Given the description of an element on the screen output the (x, y) to click on. 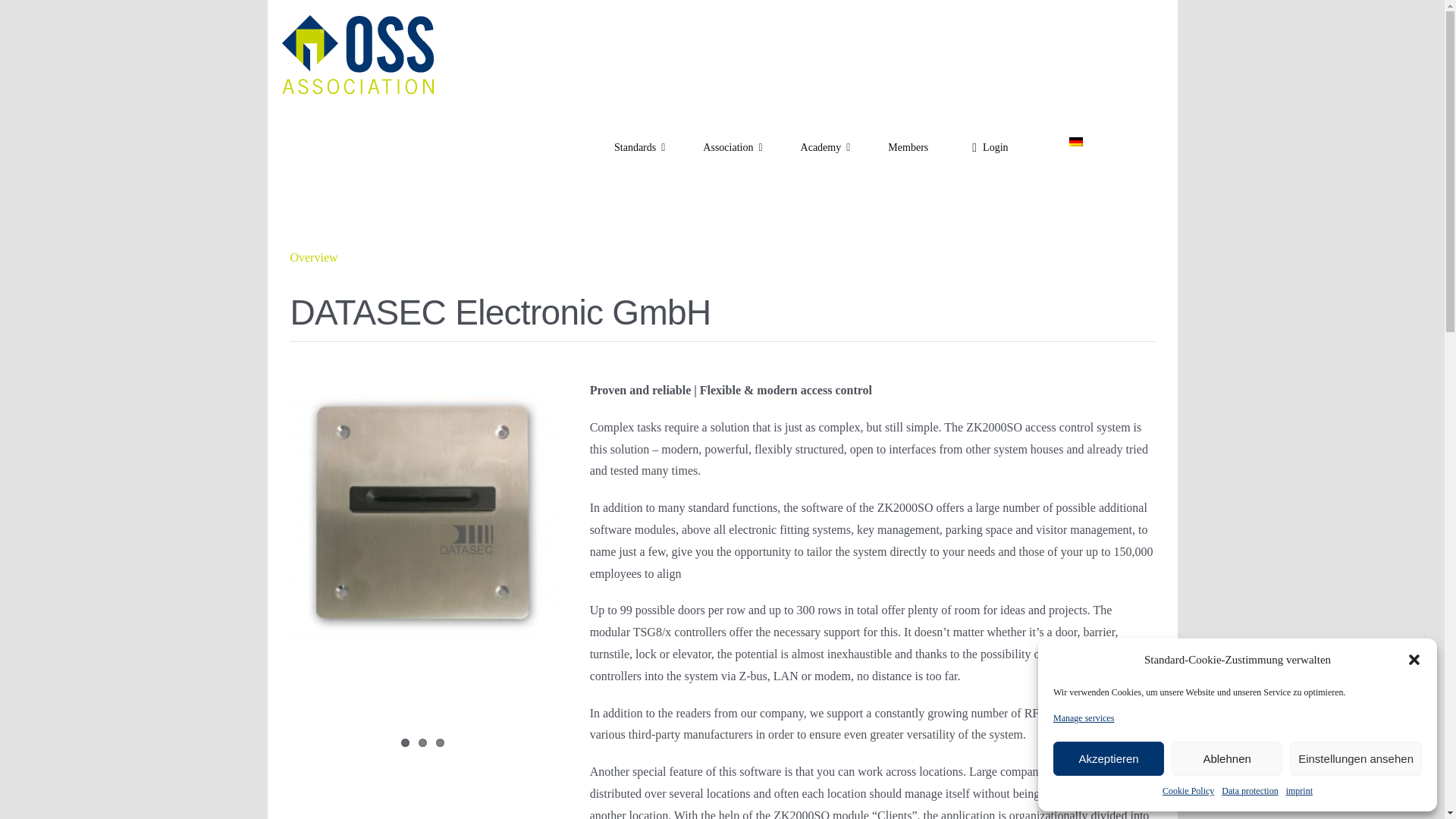
Akzeptieren (1107, 758)
Ablehnen (1227, 758)
Einstellungen ansehen (1356, 758)
Data protection (1249, 791)
Cookie Policy (1187, 791)
Manage services (1082, 718)
Association (732, 147)
Standards (639, 147)
